Given the description of an element on the screen output the (x, y) to click on. 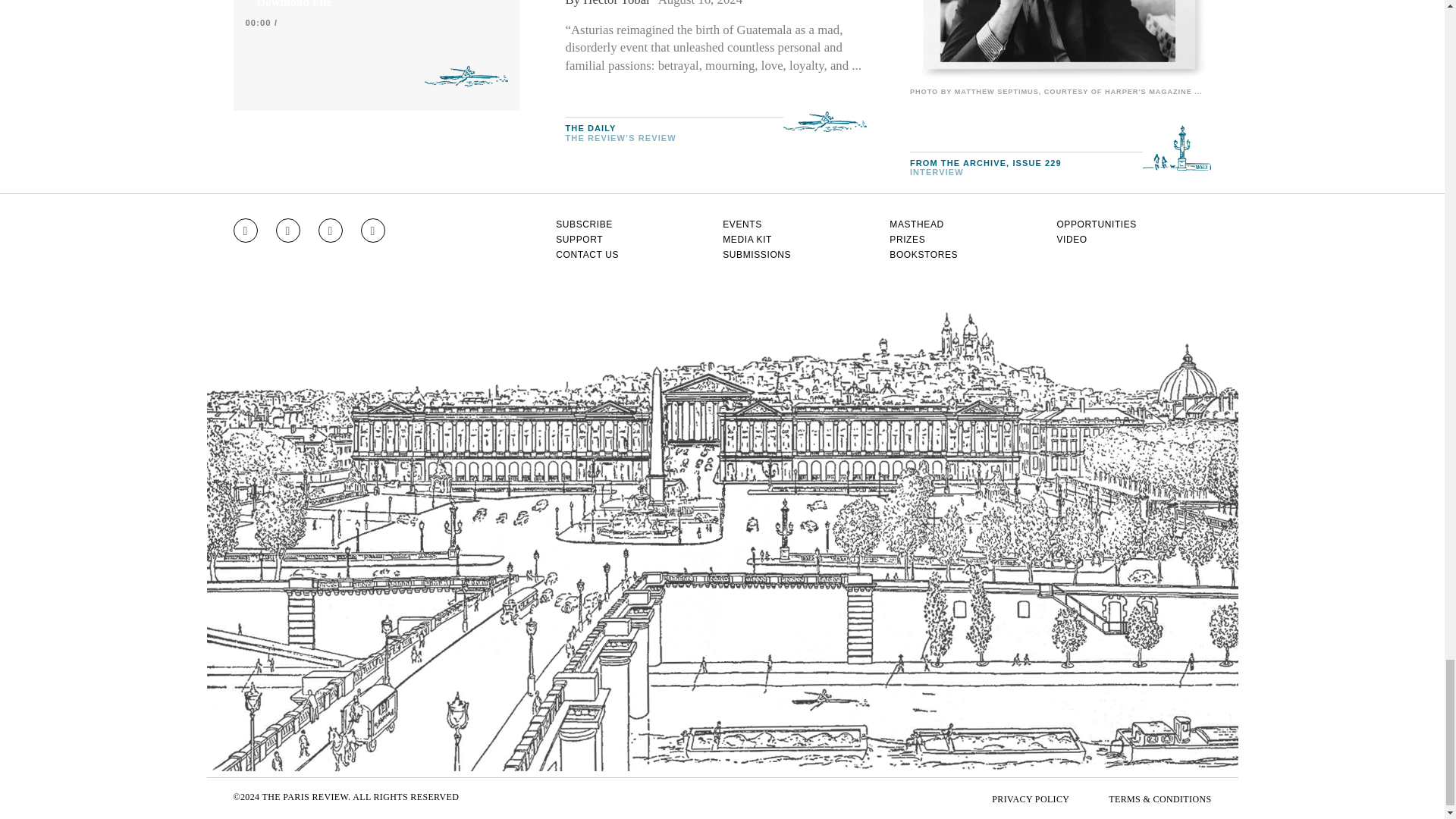
Go to Twitter feed (330, 230)
Go to Facebook page (287, 230)
undefined (1060, 40)
Go to RSS feed (373, 230)
Go to Instagram feed (244, 230)
